Given the description of an element on the screen output the (x, y) to click on. 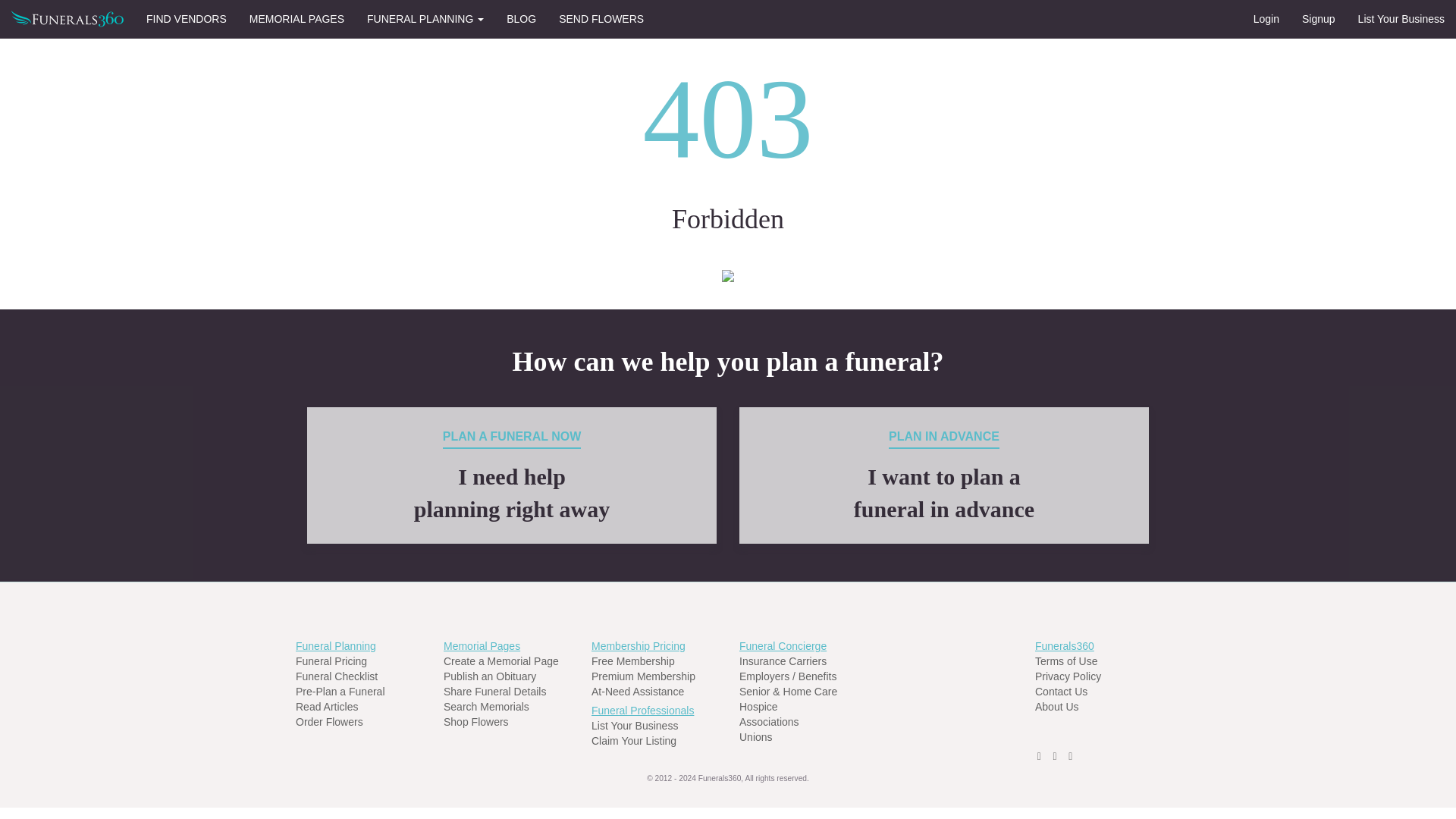
SEND FLOWERS (601, 18)
Signup (1318, 18)
Order Flowers (328, 721)
Read Articles (326, 706)
FIND VENDORS (186, 18)
Funeral Professionals (511, 475)
Membership Pricing (642, 709)
Funeral Checklist (638, 644)
Search Memorials (336, 676)
Insurance Carriers (486, 706)
At-Need Assistance (783, 661)
Premium Membership (637, 691)
MEMORIAL PAGES (643, 676)
FUNERAL PLANNING (296, 18)
